Given the description of an element on the screen output the (x, y) to click on. 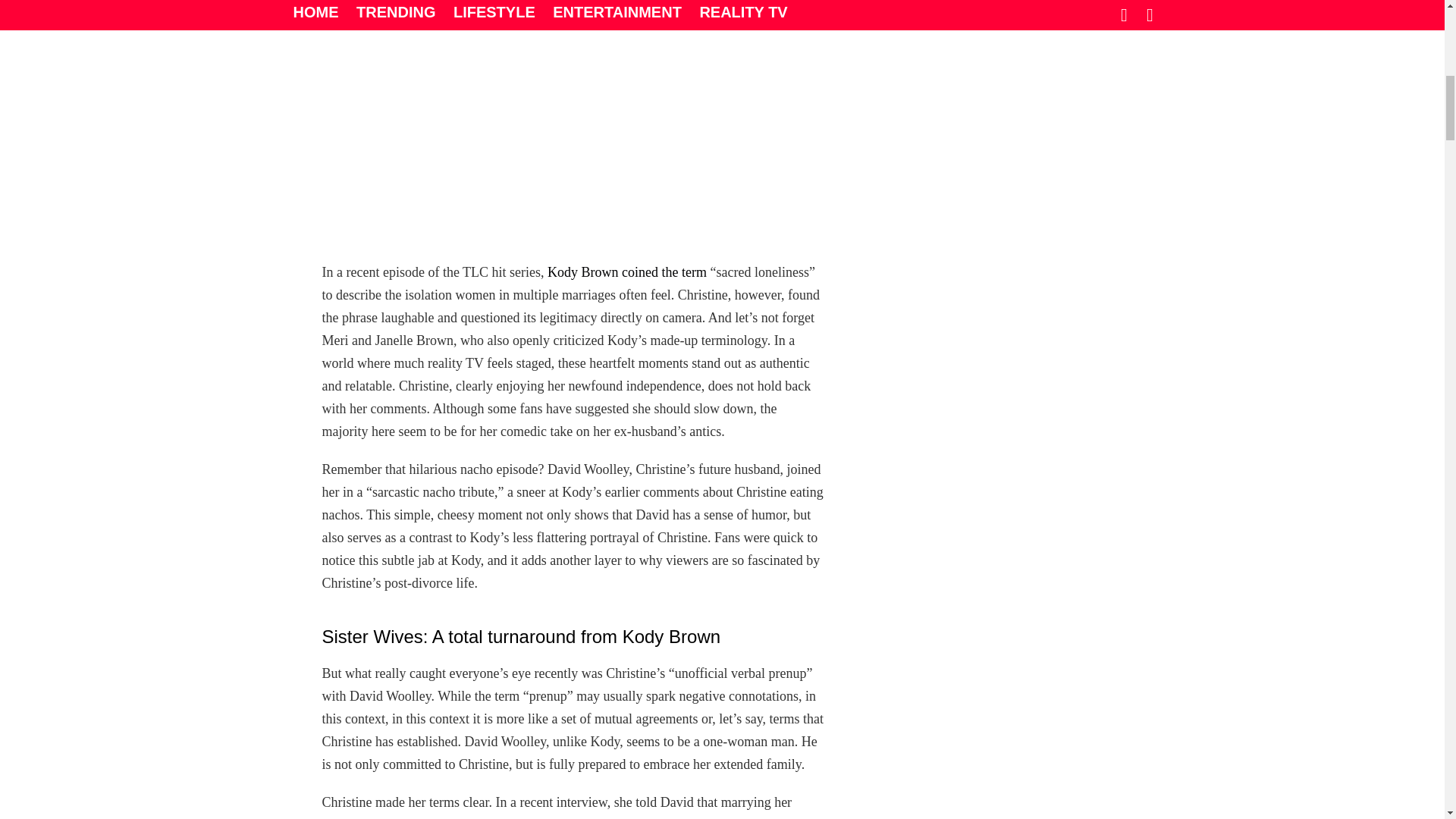
Kody Brown coined the term (626, 272)
